Given the description of an element on the screen output the (x, y) to click on. 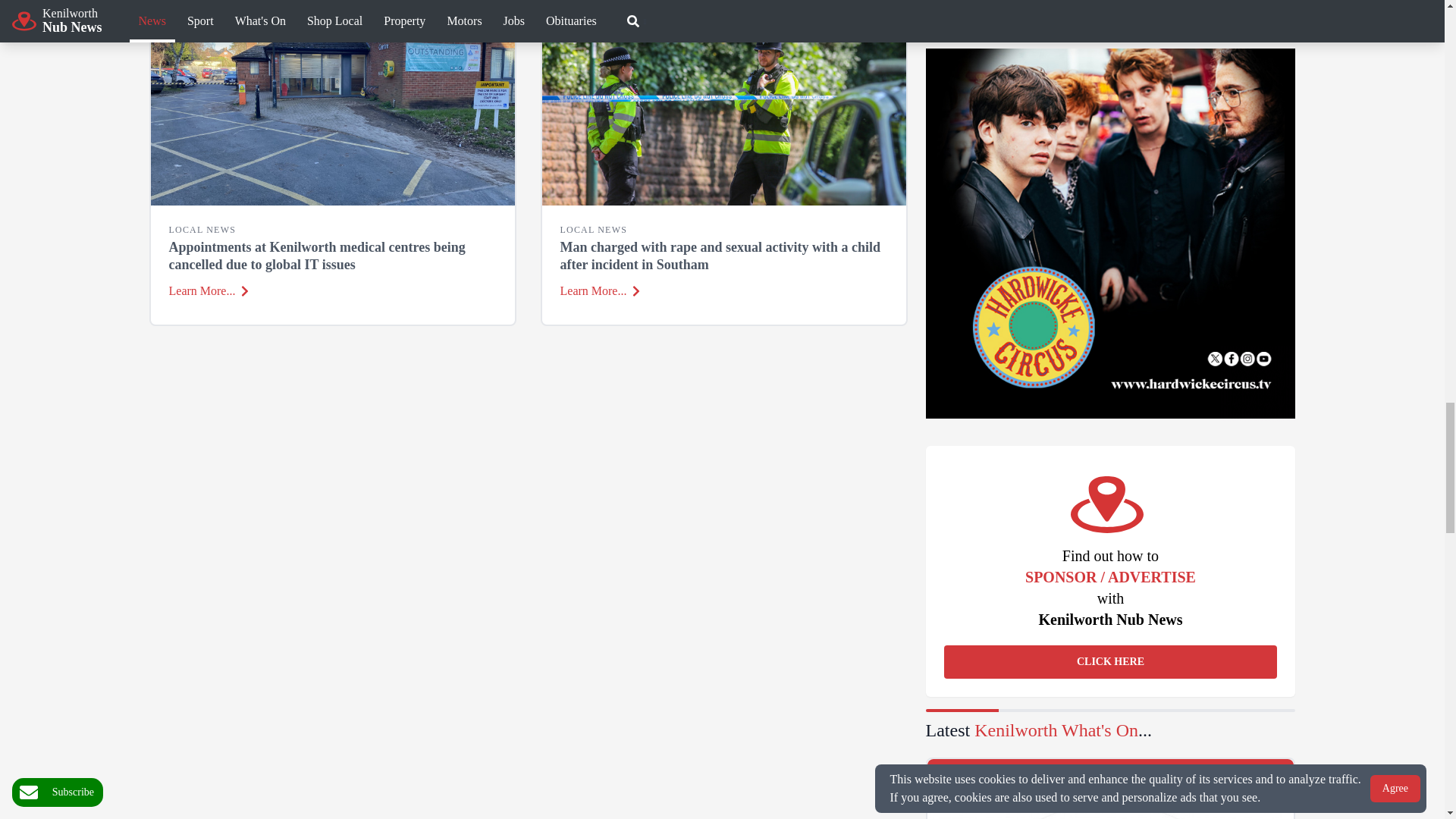
Children football coaching (1110, 802)
